Given the description of an element on the screen output the (x, y) to click on. 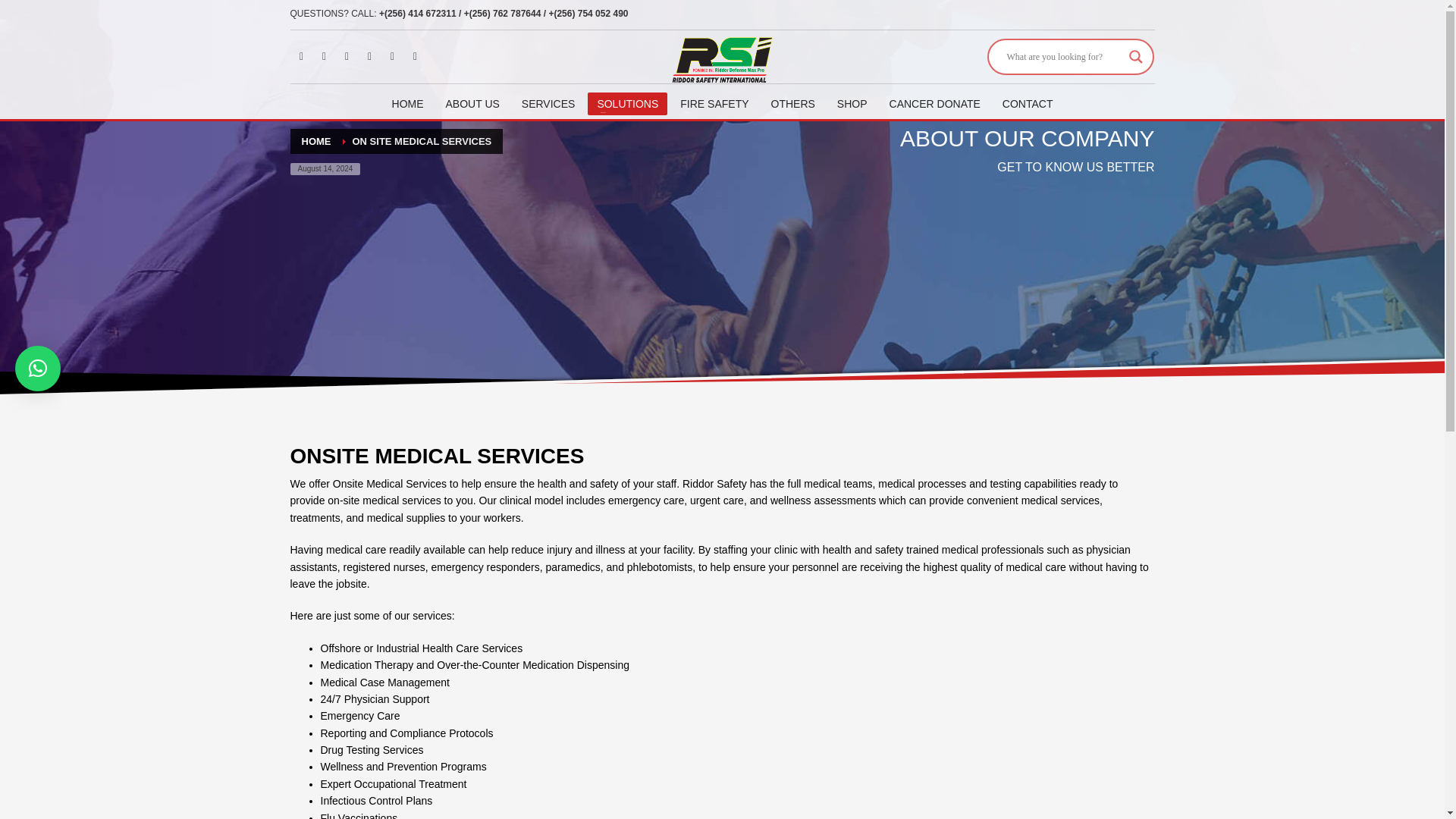
X (323, 56)
Instagram (414, 56)
ABOUT US (472, 103)
Youtube (369, 56)
HOME (407, 103)
LinkedIn (346, 56)
Skype (391, 56)
SERVICES (548, 103)
Facebook (301, 56)
